Given the description of an element on the screen output the (x, y) to click on. 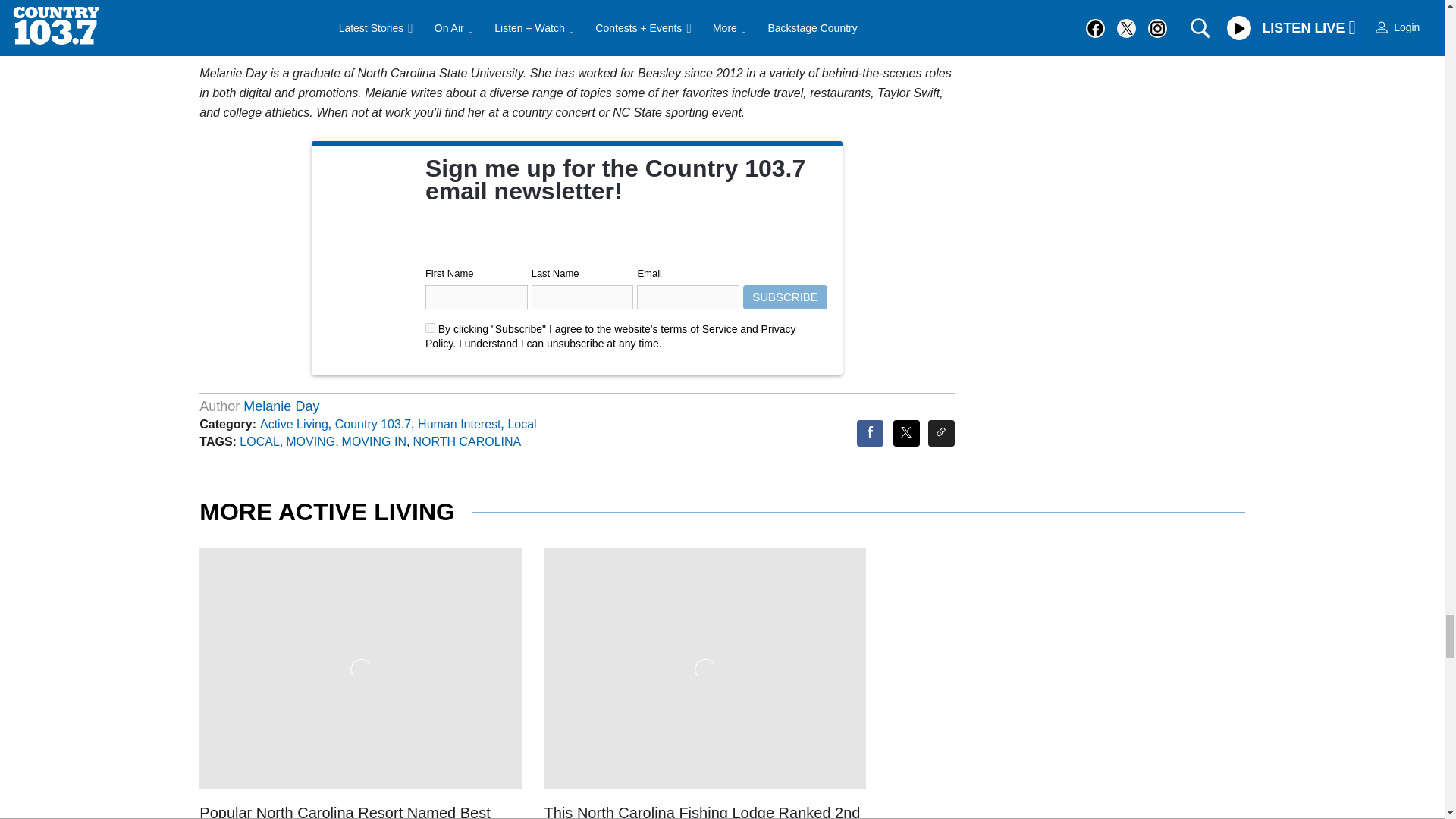
on (430, 327)
Melanie Day (280, 406)
